Given the description of an element on the screen output the (x, y) to click on. 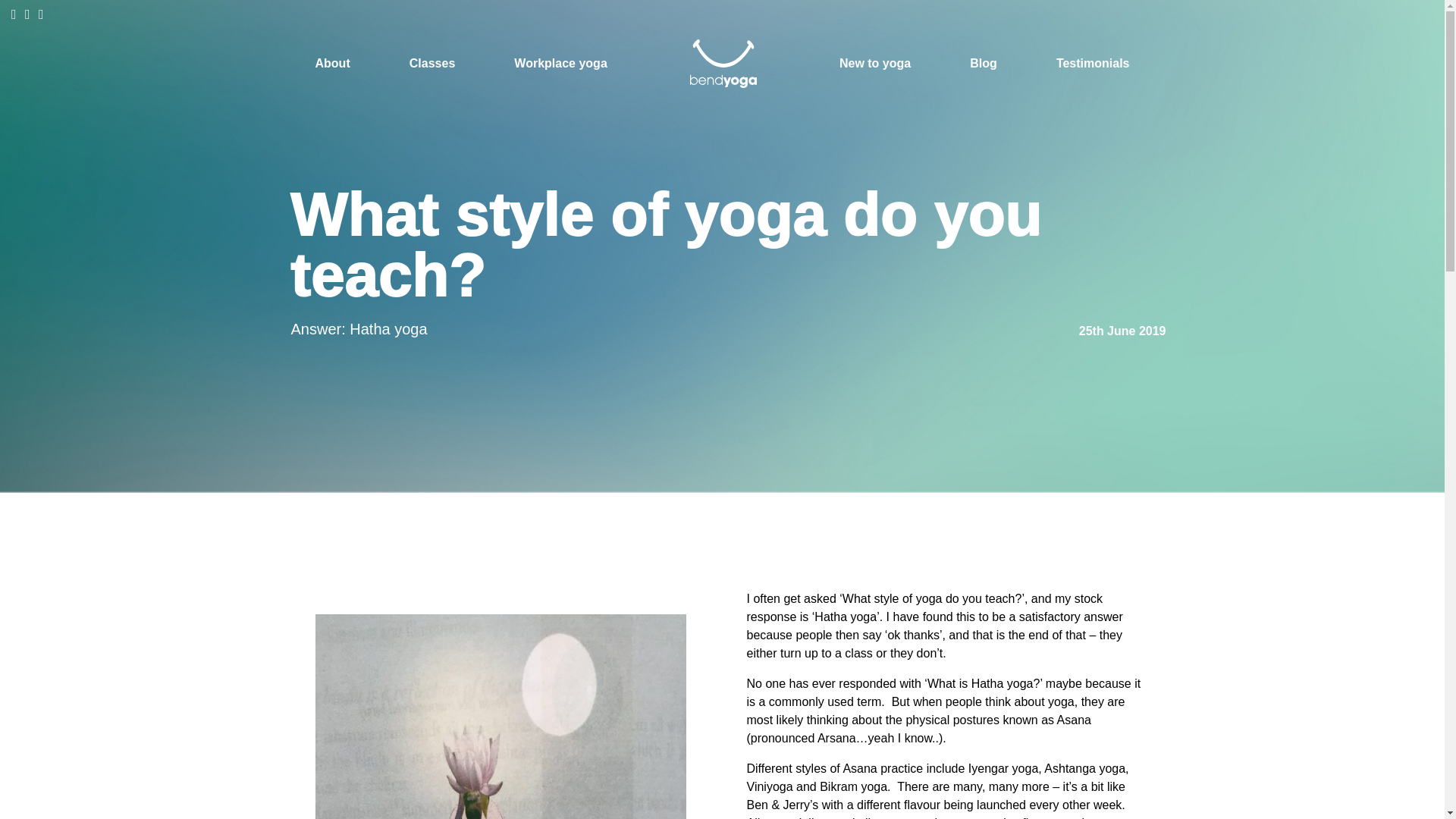
Home (722, 63)
Testimonials (1093, 63)
Classes (432, 63)
Workplace yoga (560, 63)
New to yoga (875, 63)
About (332, 63)
